Given the description of an element on the screen output the (x, y) to click on. 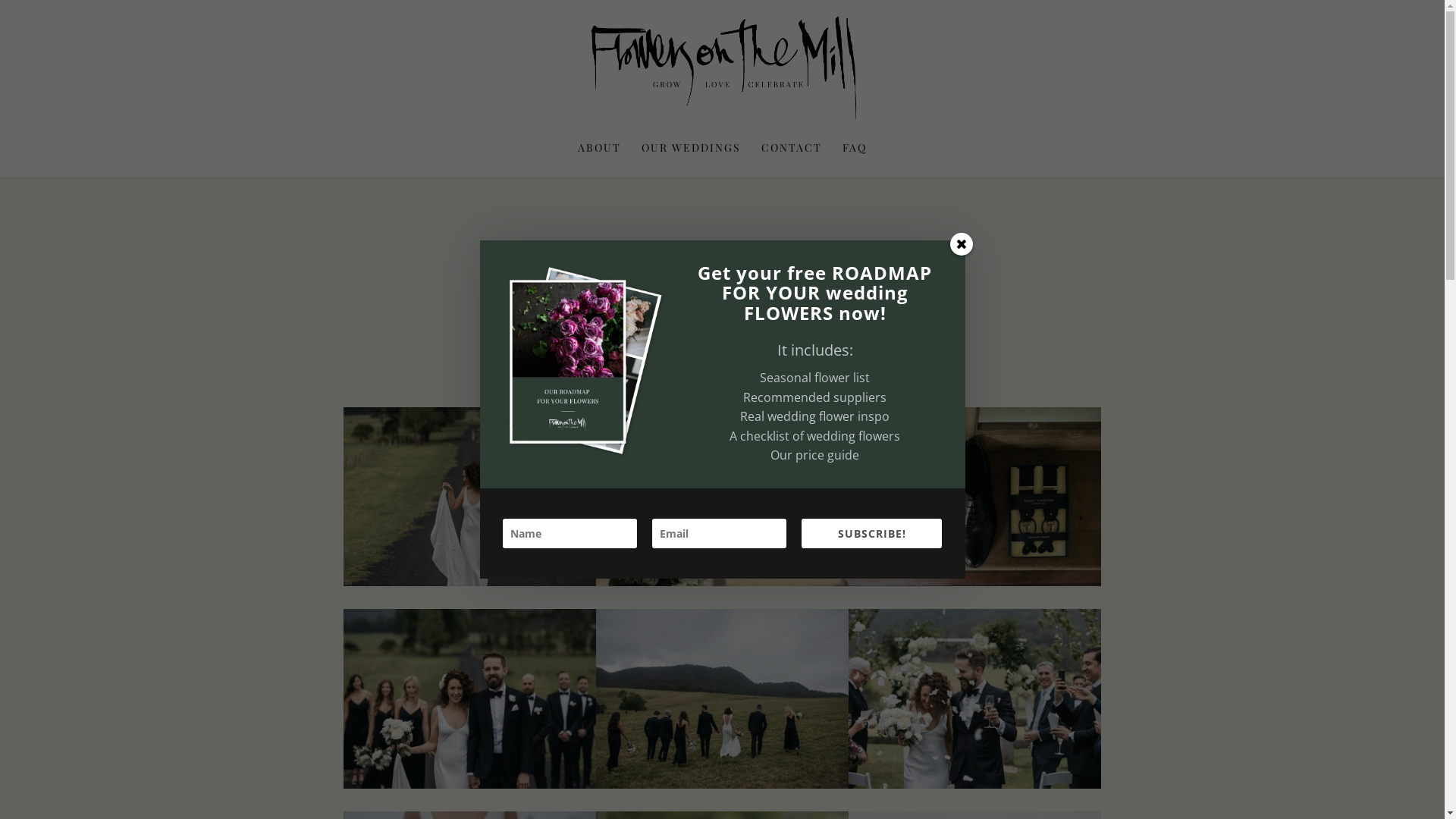
FAQ Element type: text (854, 159)
Matt _ Georgia Melross Wedding (144) Element type: hover (722, 579)
Matt _ Georgia Melross Wedding (56) Element type: hover (974, 579)
Matt _ Georgia Melross Wedding (175) Element type: hover (468, 579)
CONTACT Element type: text (791, 159)
ABOUT Element type: text (599, 159)
Matt _ Georgia Melross Wedding (185) Element type: hover (468, 781)
OUR WEDDINGS Element type: text (690, 159)
Matt _ Georgia Melross Wedding (187) Element type: hover (722, 781)
SUBSCRIBE! Element type: text (871, 533)
Matt _ Georgia Melross Wedding (140) Element type: hover (974, 781)
